Given the description of an element on the screen output the (x, y) to click on. 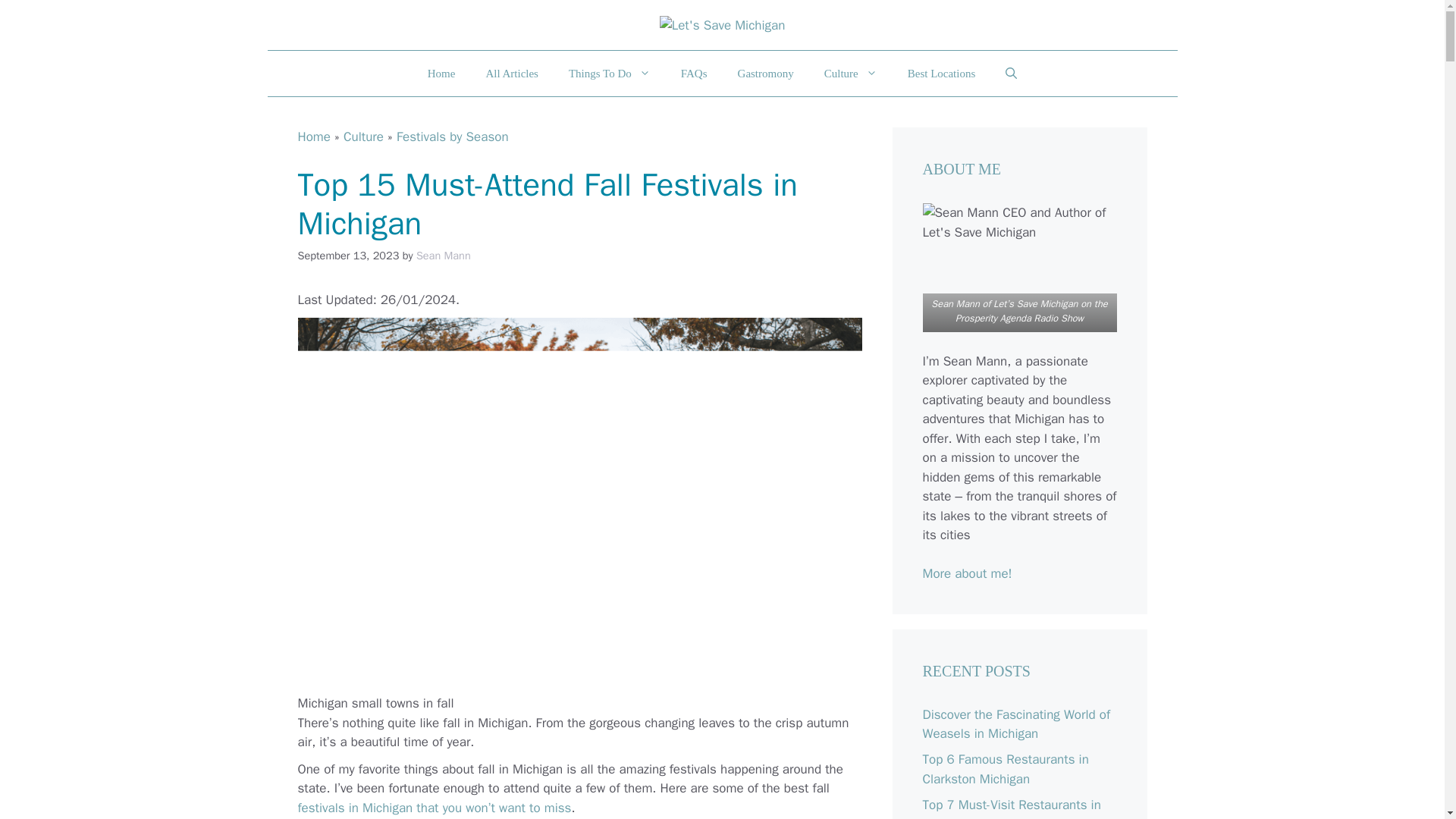
Culture (363, 136)
View all posts by Sean Mann (443, 255)
Sean Mann (443, 255)
Home (441, 73)
Home (313, 136)
Festivals by Season (452, 136)
Best Locations (941, 73)
Culture (850, 73)
Gastromony (765, 73)
FAQs (693, 73)
All Articles (511, 73)
Things To Do (609, 73)
